Given the description of an element on the screen output the (x, y) to click on. 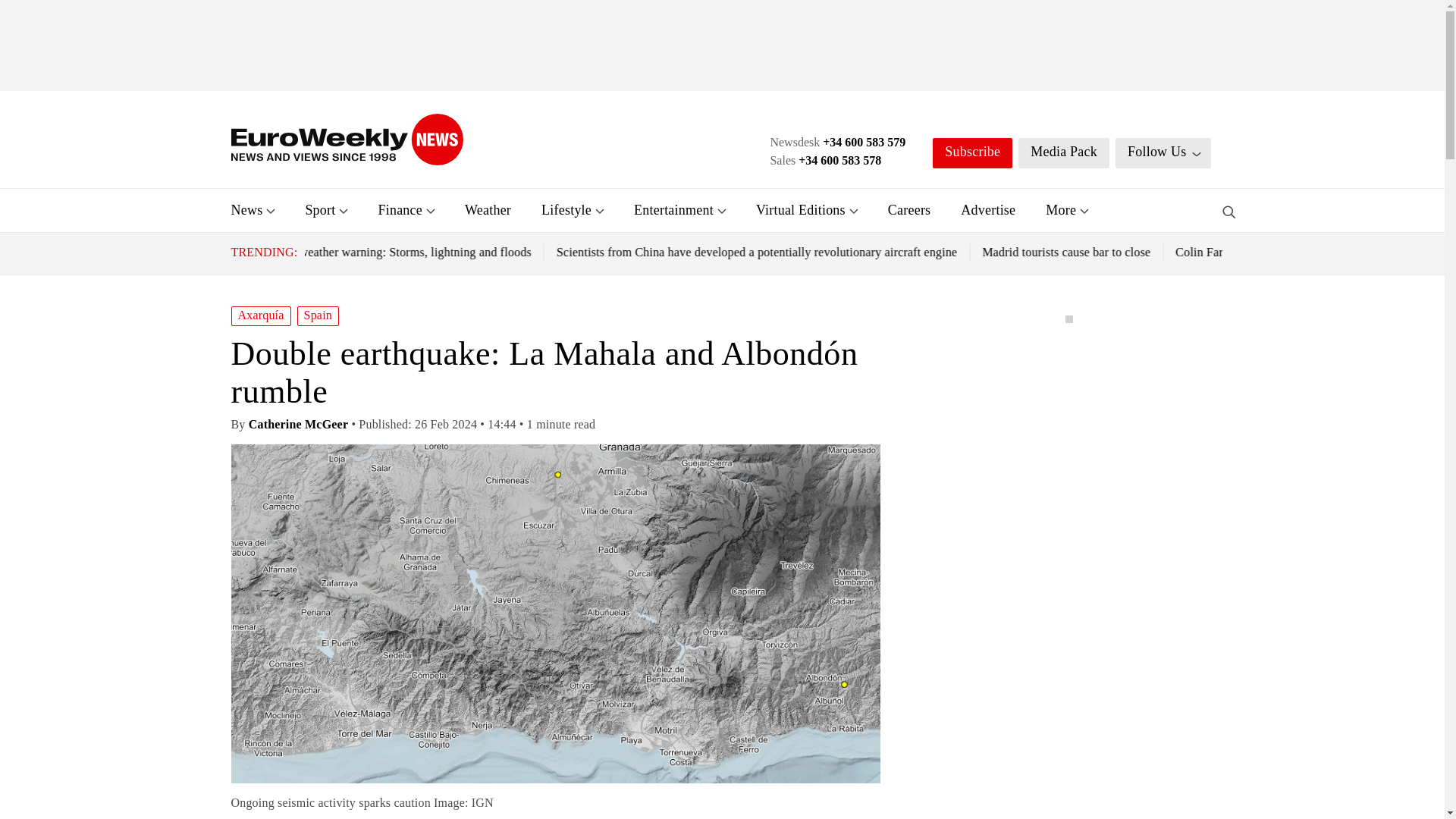
Follow Us (1163, 153)
News (246, 209)
Subscribe (972, 153)
Media Pack (1063, 153)
